Given the description of an element on the screen output the (x, y) to click on. 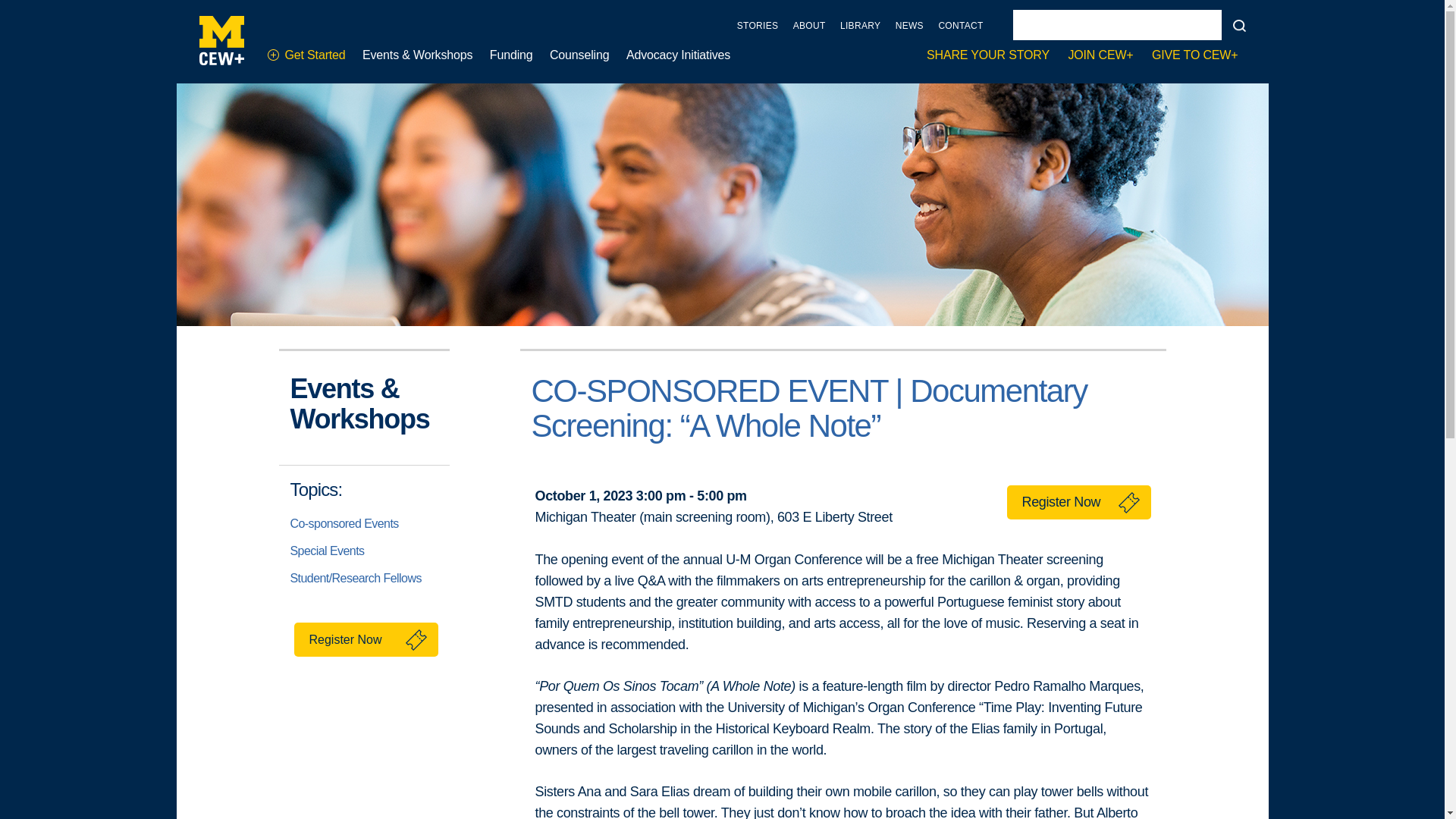
STORIES (757, 25)
Register Now (366, 639)
Funding (510, 54)
Co-sponsored Events (343, 522)
SHARE YOUR STORY (987, 54)
Get Started (305, 54)
Counseling (579, 54)
ABOUT (809, 25)
Advocacy Initiatives (678, 54)
CONTACT (959, 25)
